Given the description of an element on the screen output the (x, y) to click on. 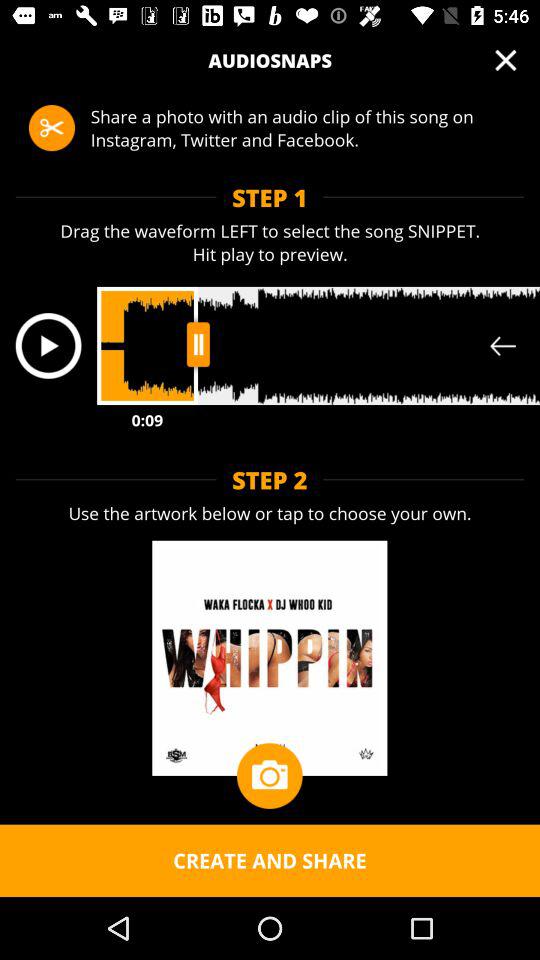
select item below drag the waveform item (48, 345)
